Given the description of an element on the screen output the (x, y) to click on. 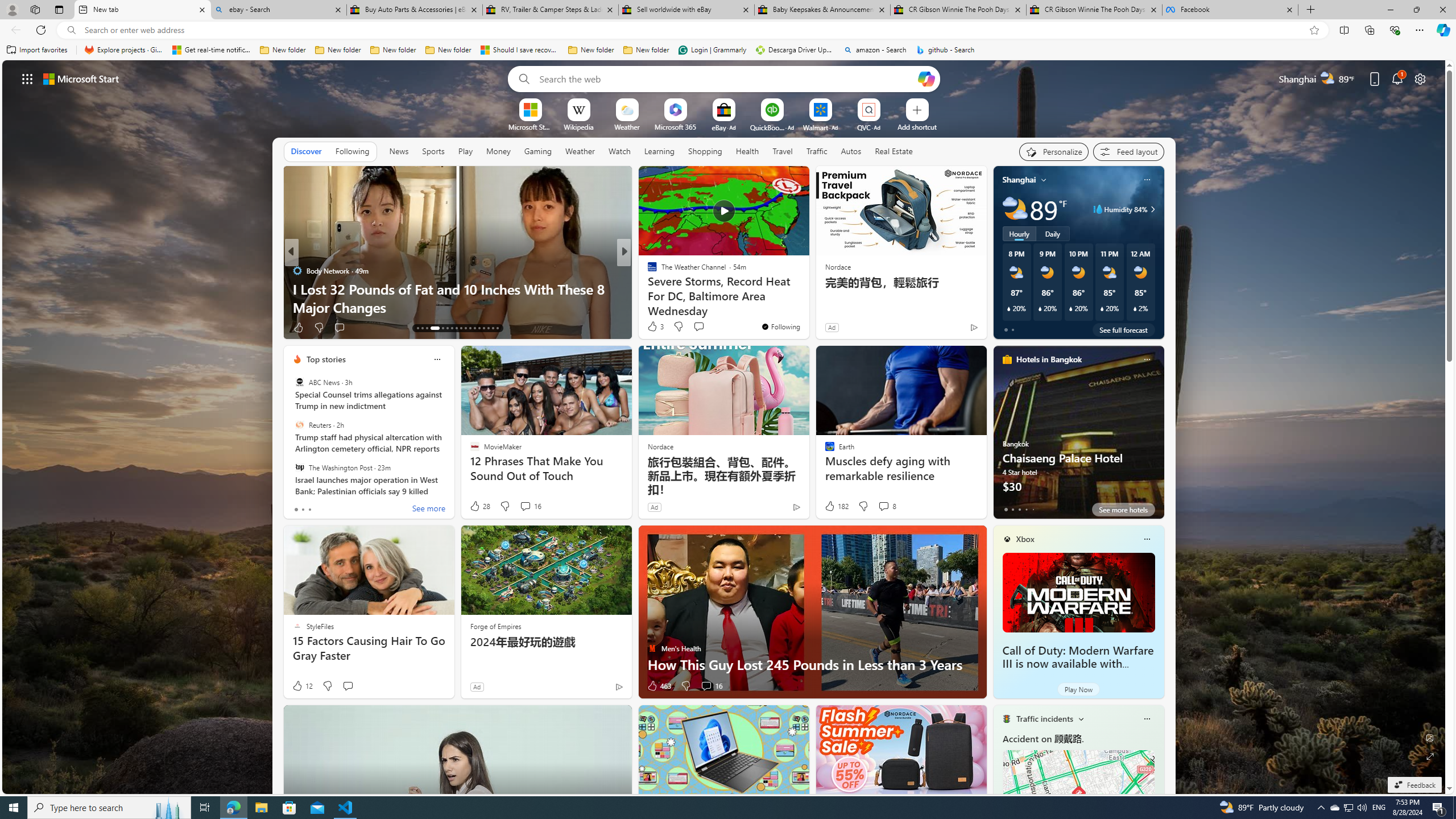
Watch (619, 151)
Simply More Time (647, 288)
ETNT Mind+Body (647, 270)
View comments 96 Comment (357, 327)
102 Like (654, 327)
Play (465, 151)
AutomationID: tab-22 (465, 328)
Autos (850, 151)
See more (795, 179)
Sell worldwide with eBay (685, 9)
View comments 16 Comment (705, 685)
Learning (659, 151)
